Given the description of an element on the screen output the (x, y) to click on. 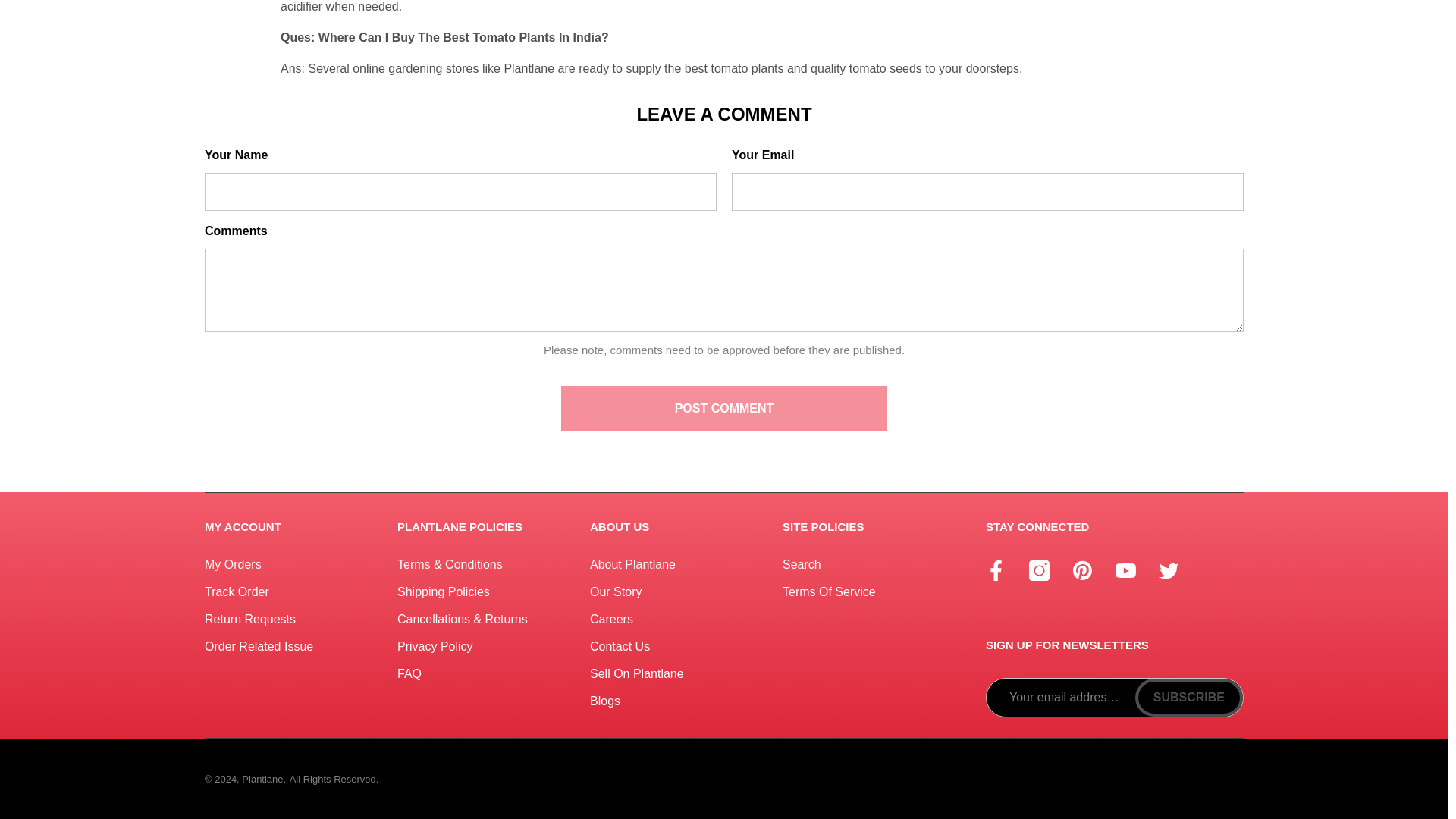
Post comment (723, 408)
Return Requests (250, 619)
Shipping Policies (443, 592)
Track Order (237, 592)
Post comment (723, 408)
Order Related Issue (259, 646)
My Orders (233, 564)
